Given the description of an element on the screen output the (x, y) to click on. 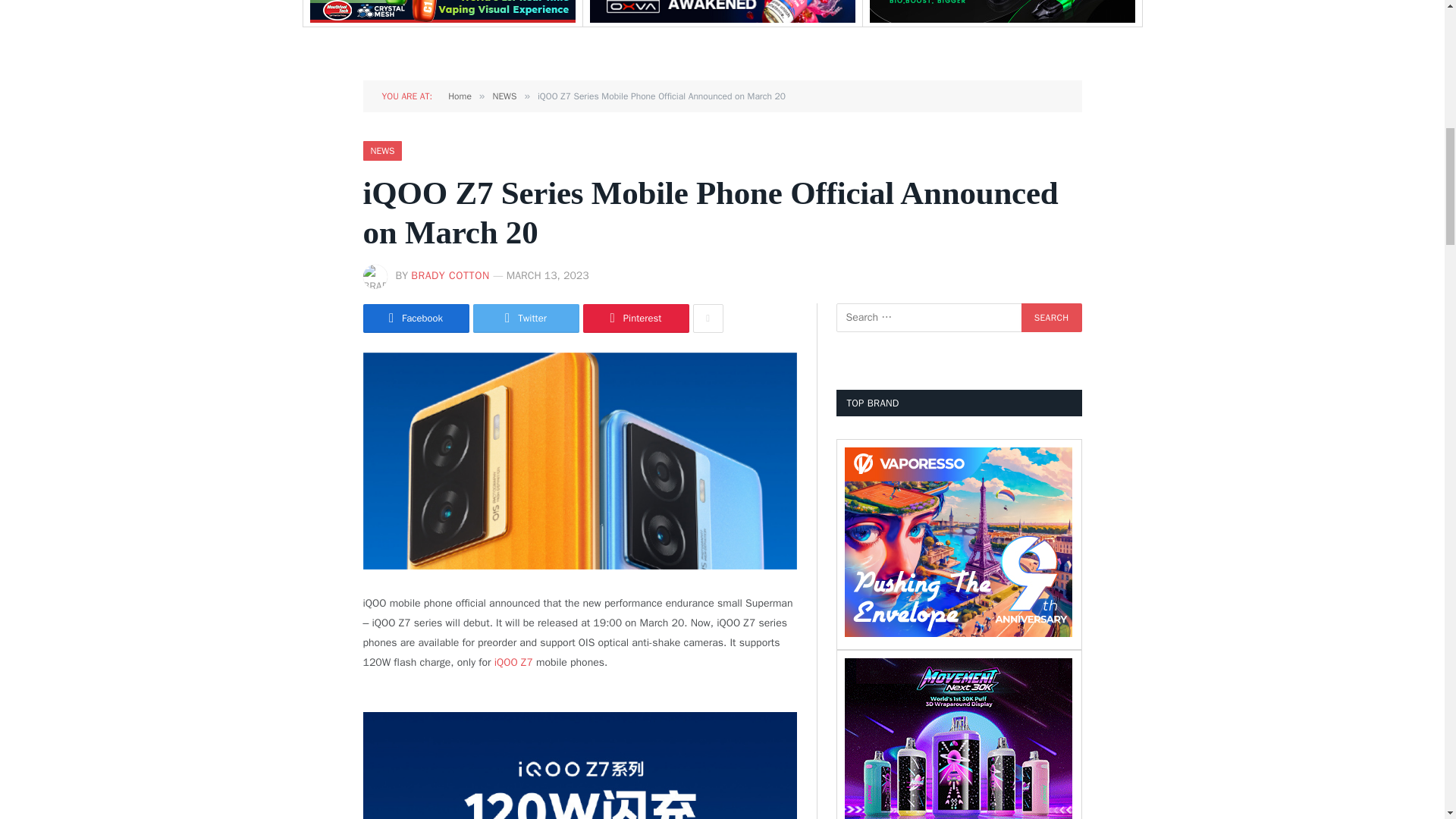
iQOO Z7 Series Mobile Phone Official Announced on March 20 (579, 460)
Share on Facebook (415, 317)
Show More Social Sharing (708, 317)
Search (1051, 317)
Posts by Brady Cotton (449, 275)
Share on Twitter (526, 317)
Search (1051, 317)
Share on Pinterest (635, 317)
